Given the description of an element on the screen output the (x, y) to click on. 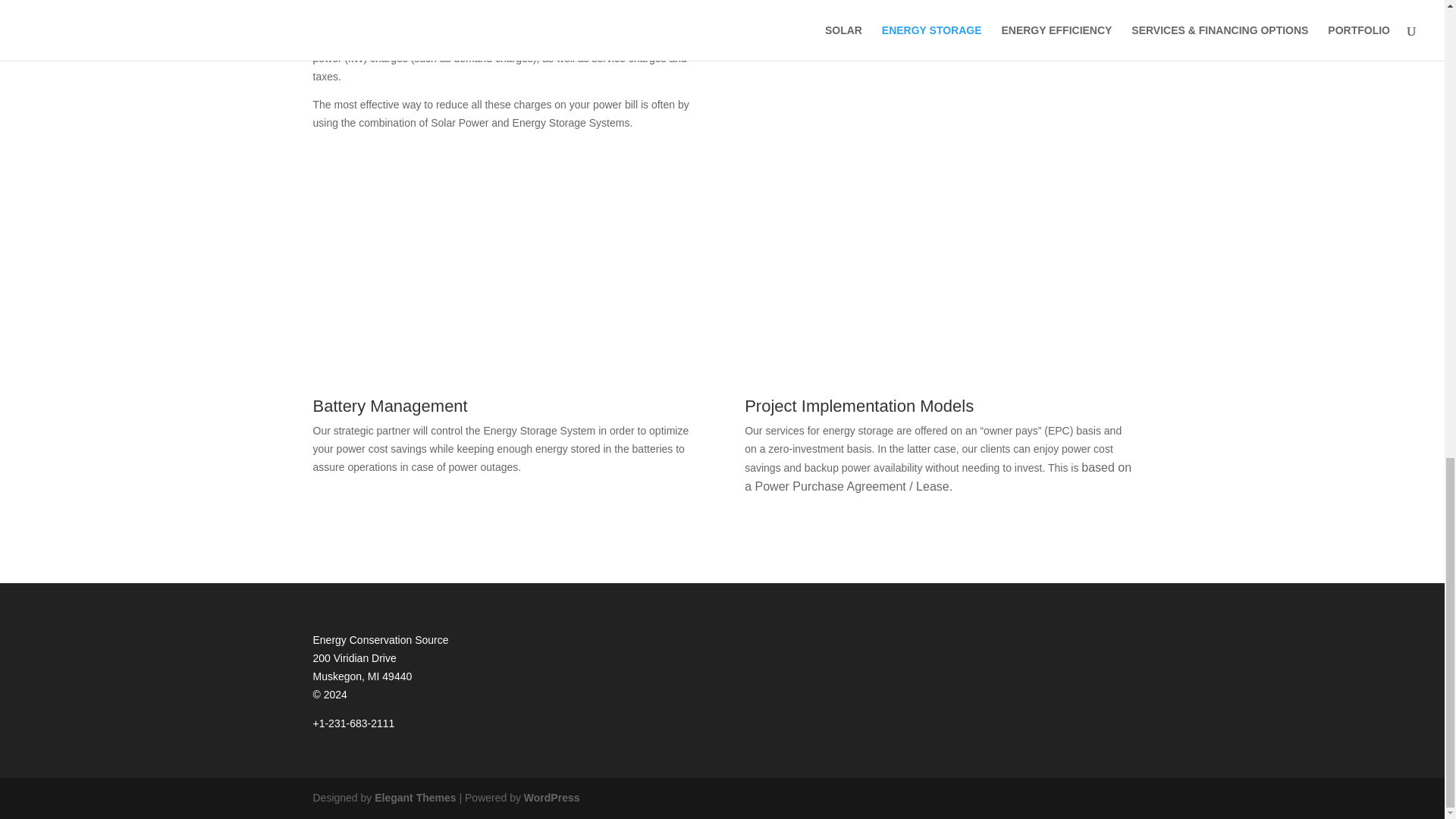
Elegant Themes (414, 797)
Premium WordPress Themes (414, 797)
WordPress (551, 797)
